Given the description of an element on the screen output the (x, y) to click on. 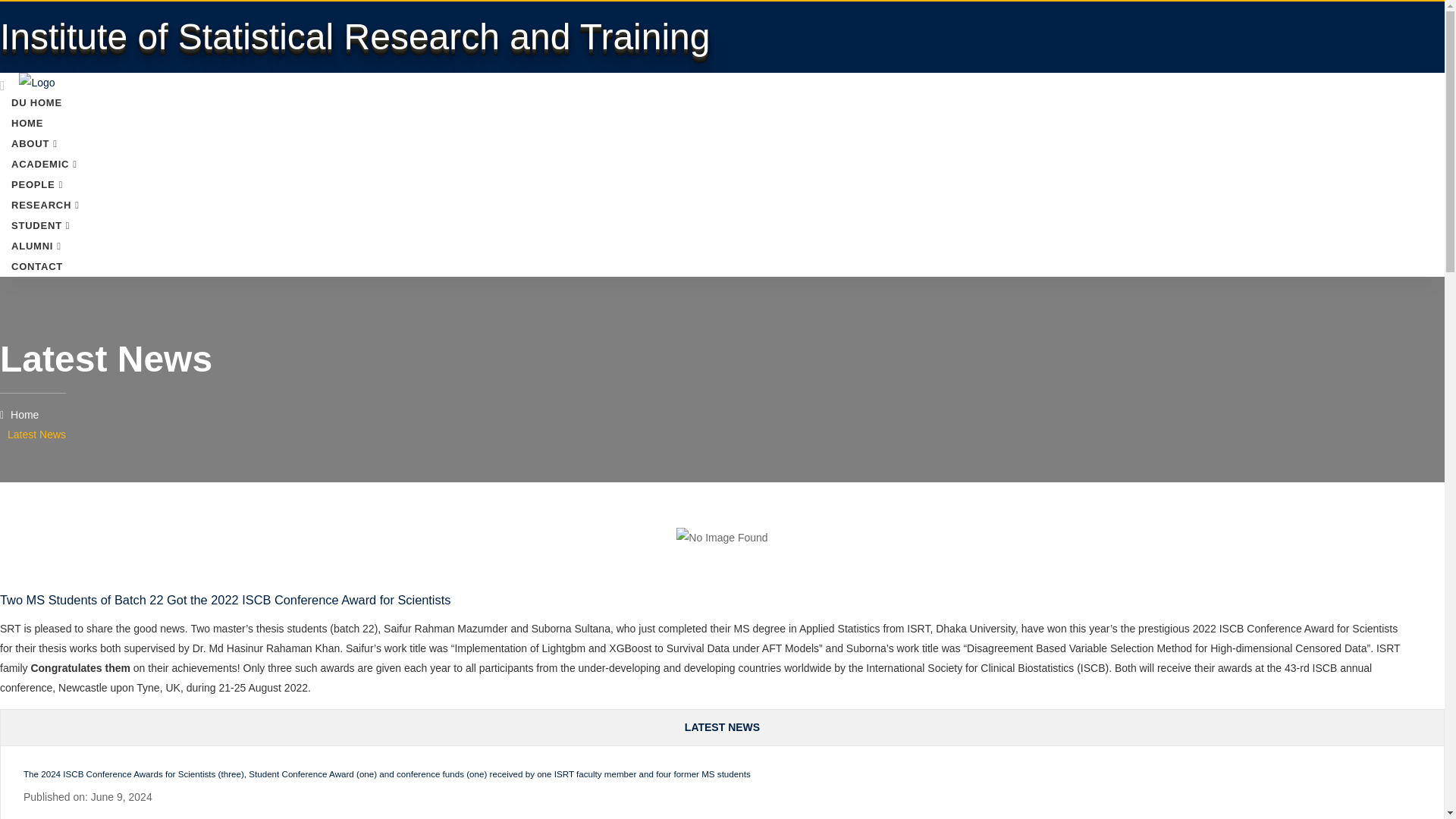
DU HOME (37, 102)
RESEARCH (45, 204)
Home (19, 414)
ABOUT (34, 143)
ACADEMIC (44, 163)
PEOPLE (37, 184)
STUDENT (40, 225)
Institute of Statistical Research and Training (356, 45)
CONTACT (37, 266)
ALUMNI (36, 245)
